Given the description of an element on the screen output the (x, y) to click on. 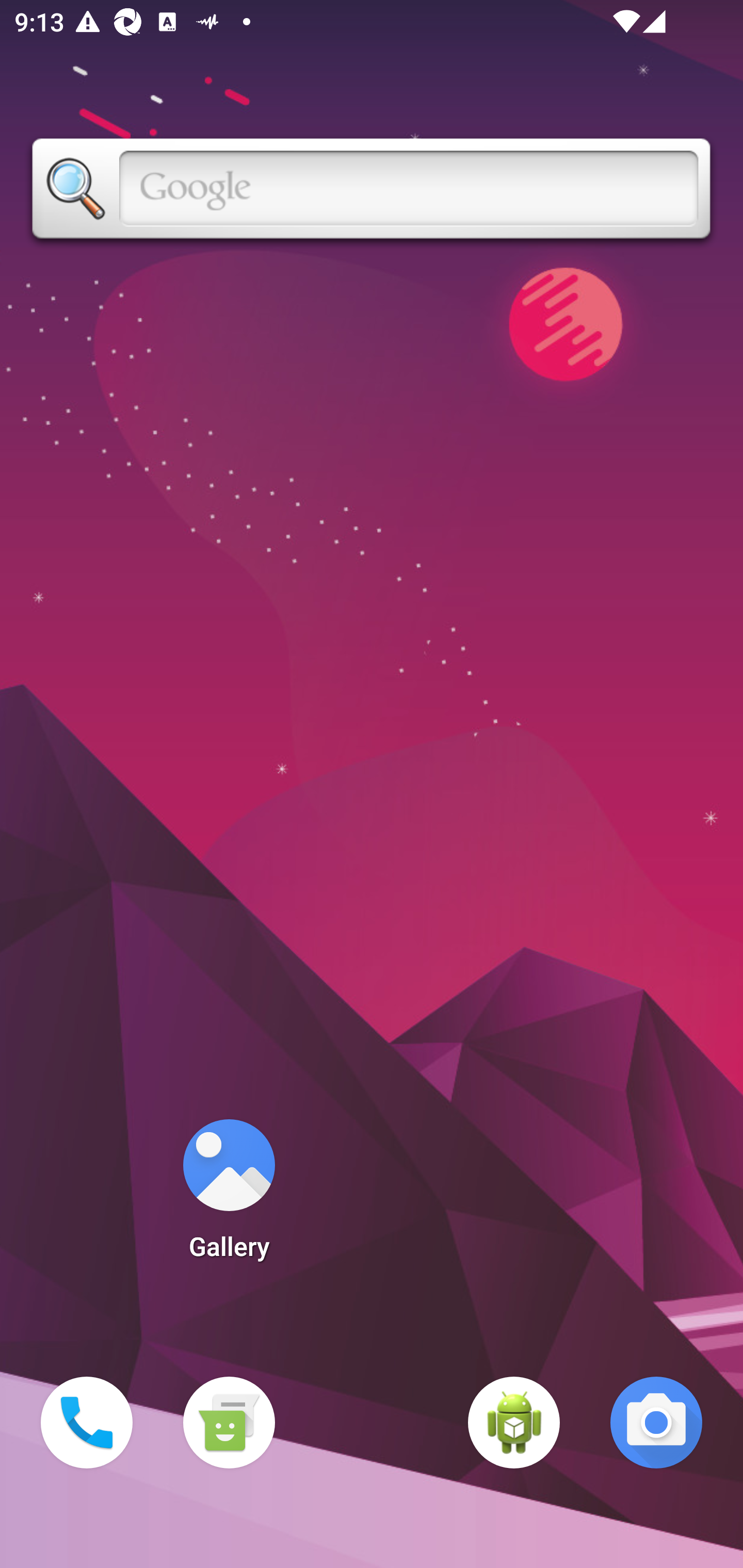
Gallery (228, 1195)
Phone (86, 1422)
Messaging (228, 1422)
WebView Browser Tester (513, 1422)
Camera (656, 1422)
